Given the description of an element on the screen output the (x, y) to click on. 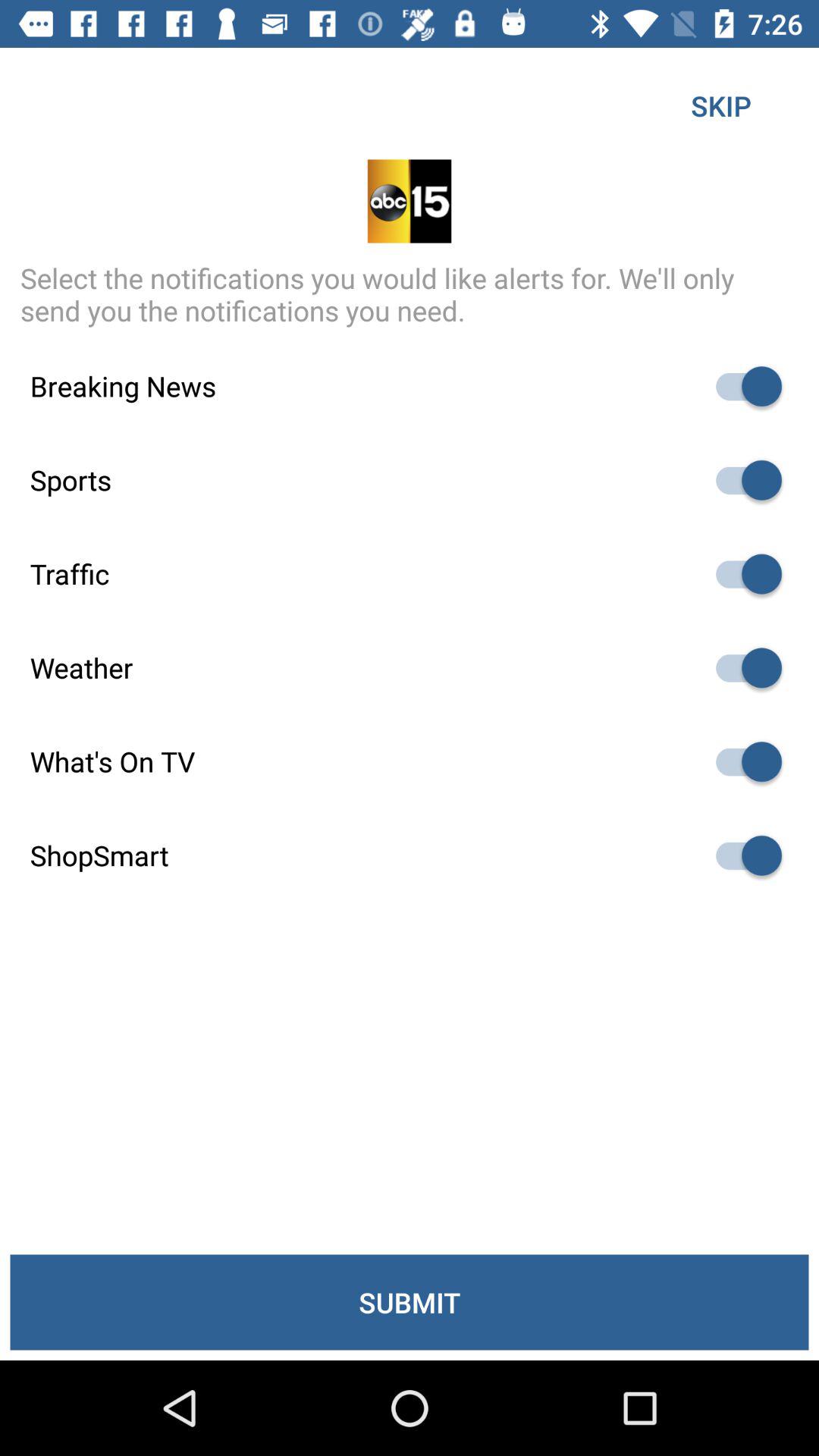
toggle notification option (741, 386)
